Given the description of an element on the screen output the (x, y) to click on. 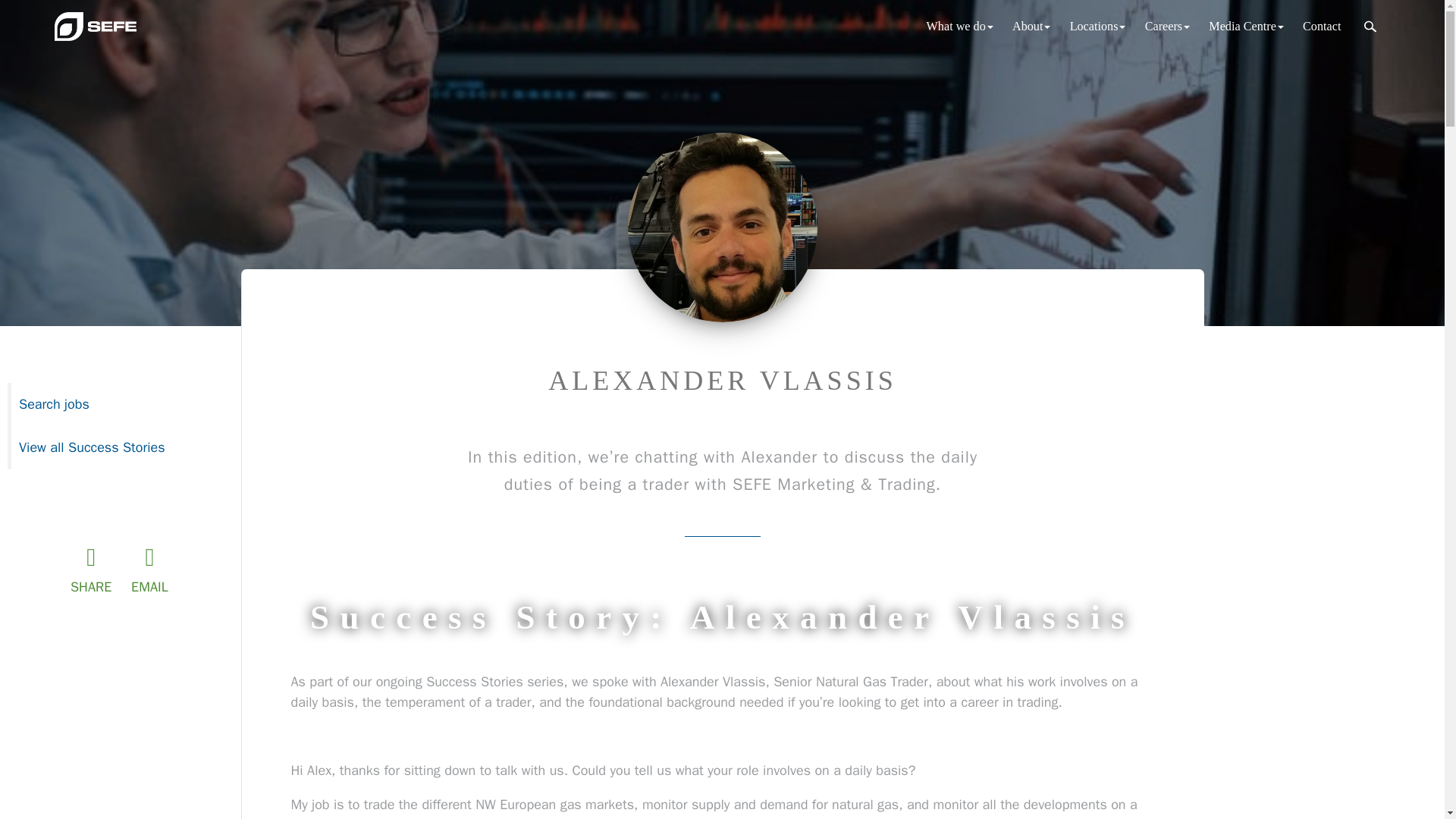
Locations (1097, 26)
About (1031, 26)
What we do (960, 26)
Careers (1167, 26)
